Given the description of an element on the screen output the (x, y) to click on. 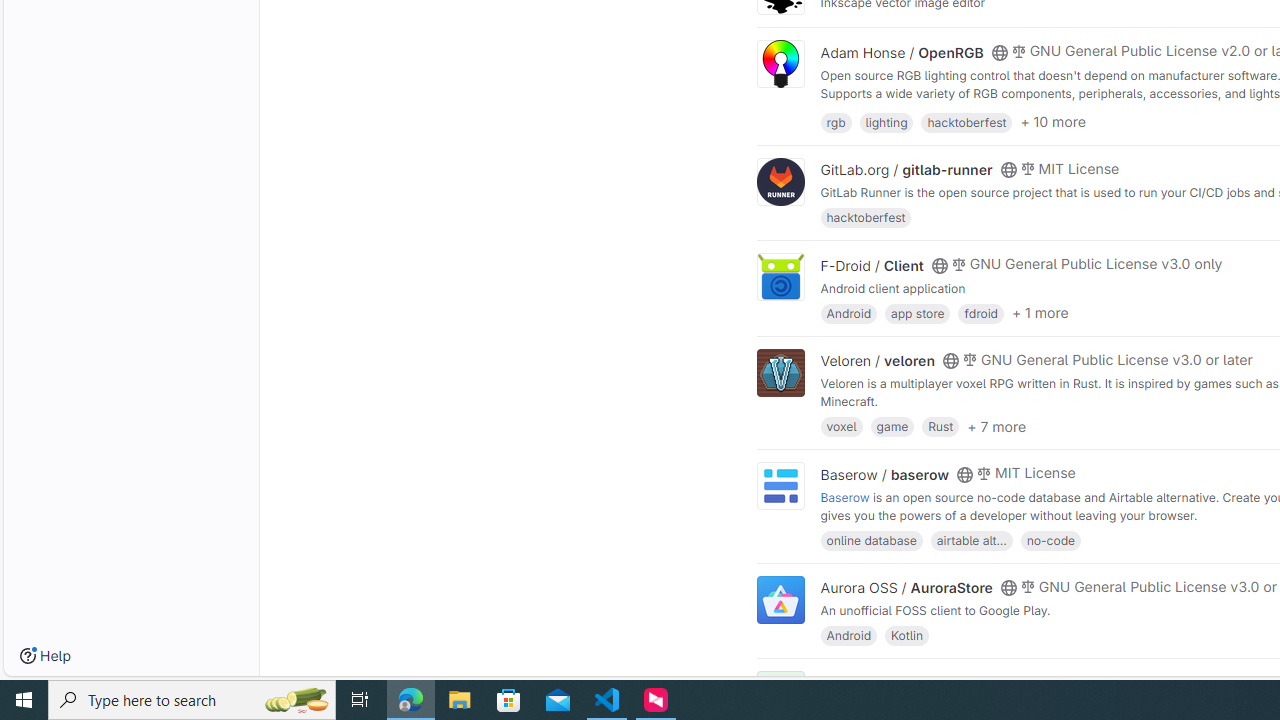
https://openrgb.org (989, 110)
voxel (841, 426)
app store (917, 312)
F-Droid / Client (872, 265)
Baserow (845, 496)
Aurora OSS / AuroraStore (906, 587)
airtable alt... (971, 539)
GitLab.org / gitlab-runner (906, 170)
rgb (836, 120)
Edouard Klein / falsisign (902, 682)
+ 1 more (1039, 313)
Adam Honse / OpenRGB (902, 52)
Class: project (780, 599)
F (780, 695)
